Given the description of an element on the screen output the (x, y) to click on. 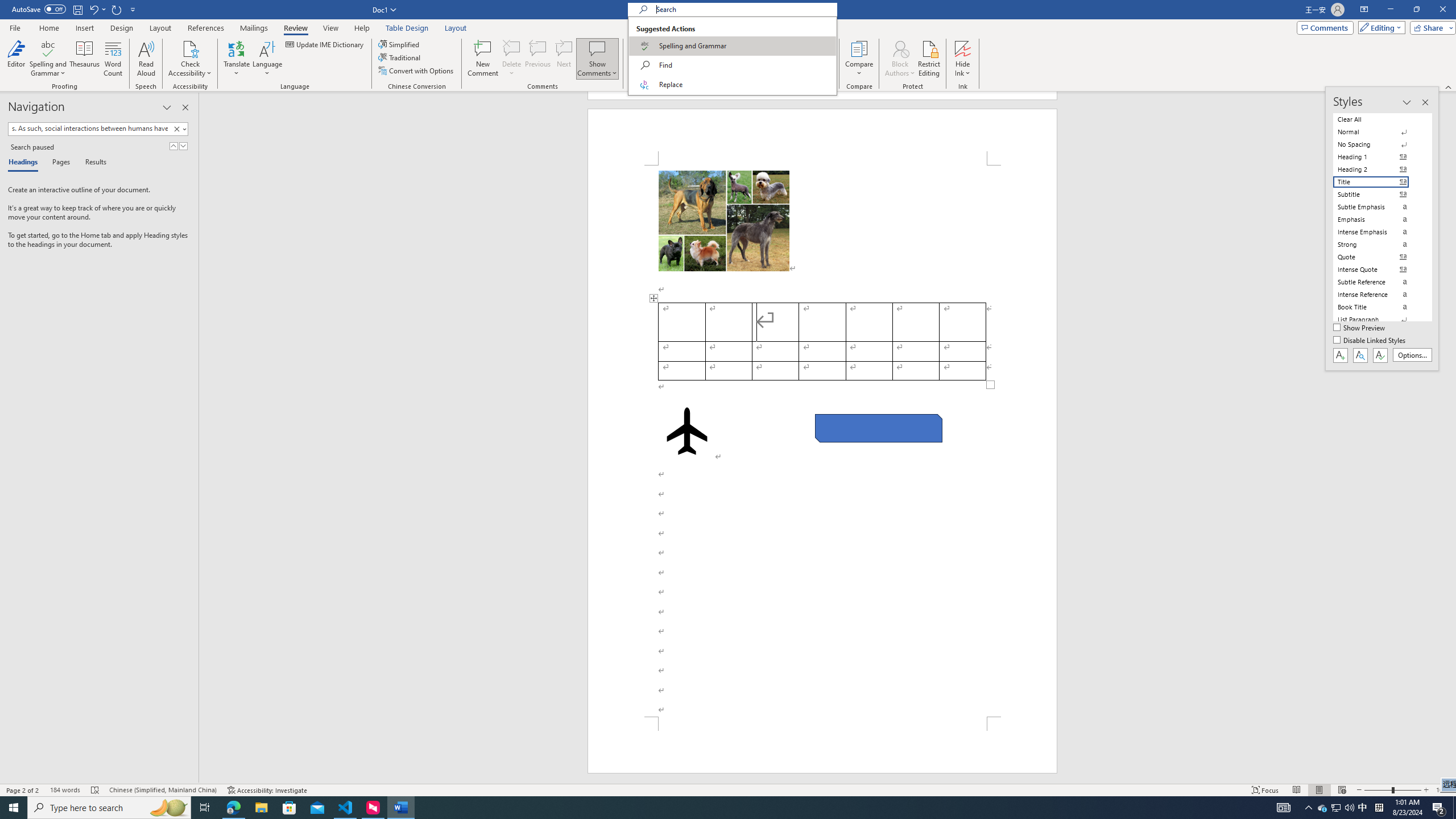
Repeat Style (117, 9)
Show Markup (695, 56)
Reject (780, 58)
Strong (1377, 244)
Options... (1412, 354)
Page 2 content (822, 440)
Editor (16, 58)
Previous (813, 44)
Replace (731, 84)
Accept and Move to Next (756, 48)
Next Result (183, 145)
Close (1442, 9)
Show Comments (597, 48)
Comments (1325, 27)
Emphasis (1377, 219)
